Given the description of an element on the screen output the (x, y) to click on. 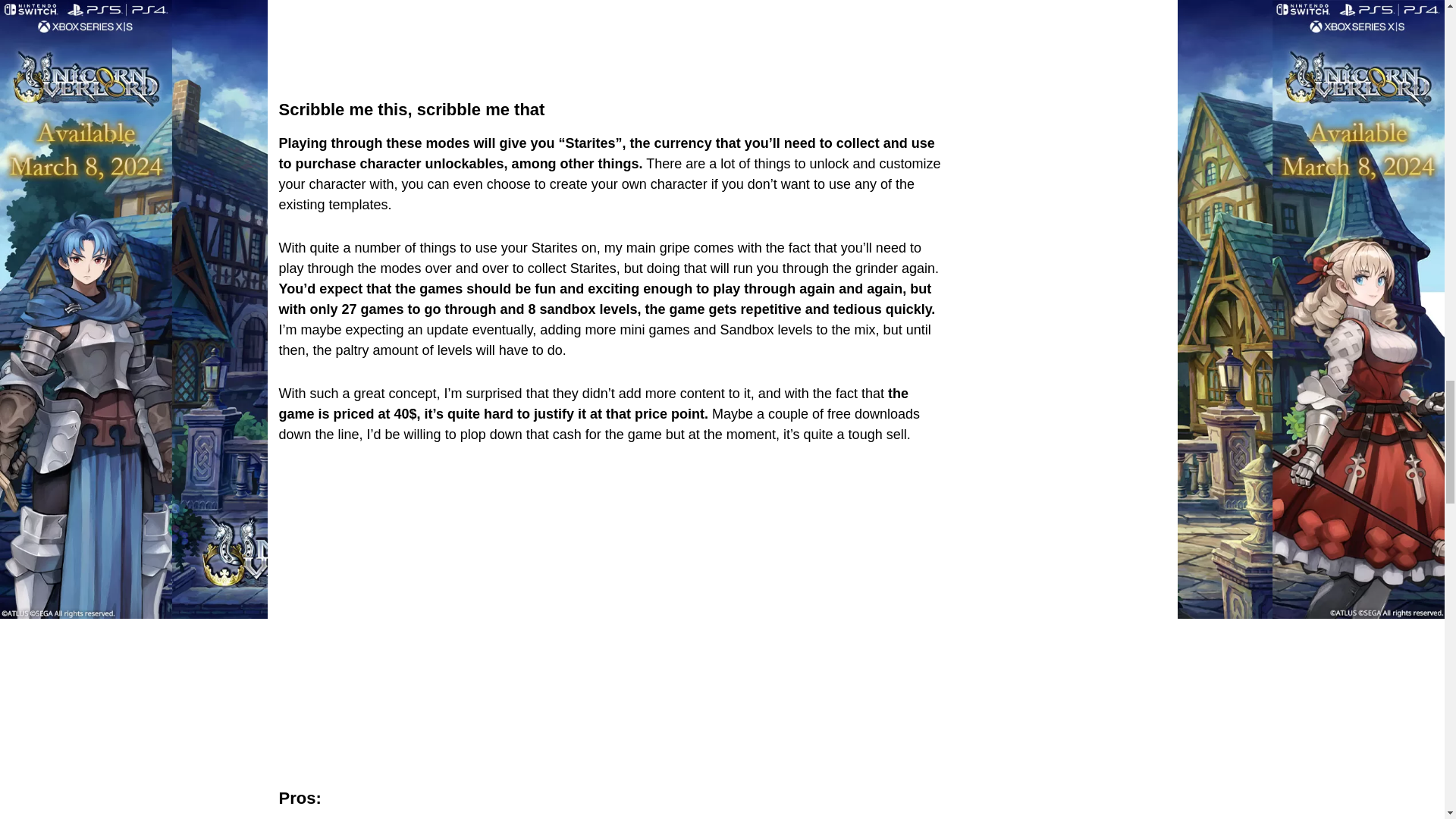
Scribblenauts Showdown Launch Trailer - Nintendo Switch (611, 15)
